Given the description of an element on the screen output the (x, y) to click on. 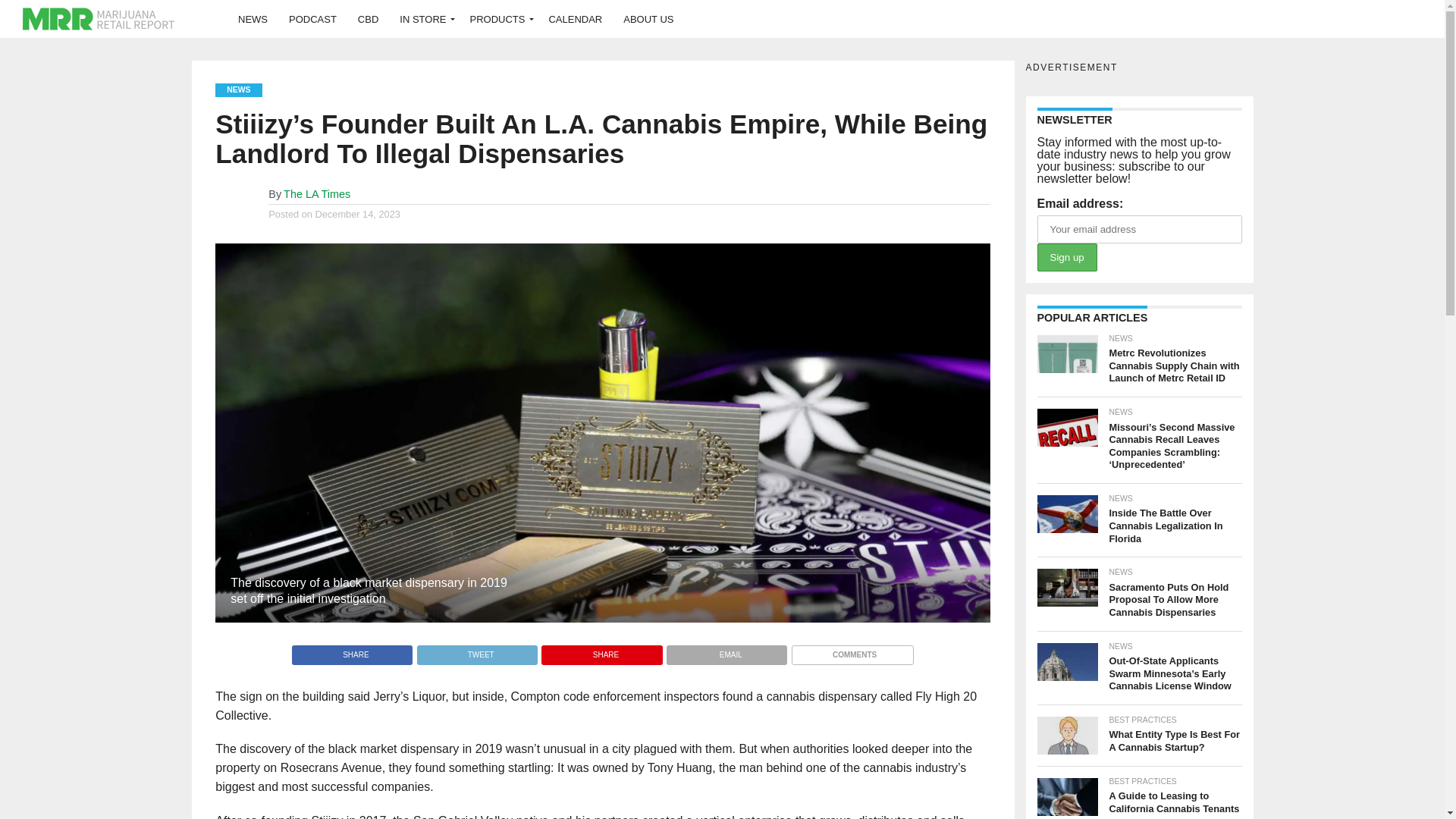
CALENDAR (574, 18)
ABOUT US (648, 18)
PRODUCTS (497, 18)
Share on Facebook (352, 650)
SHARE (601, 650)
NEWS (252, 18)
TWEET (476, 650)
Tweet This Post (476, 650)
Pin This Post (601, 650)
EMAIL (726, 650)
